Given the description of an element on the screen output the (x, y) to click on. 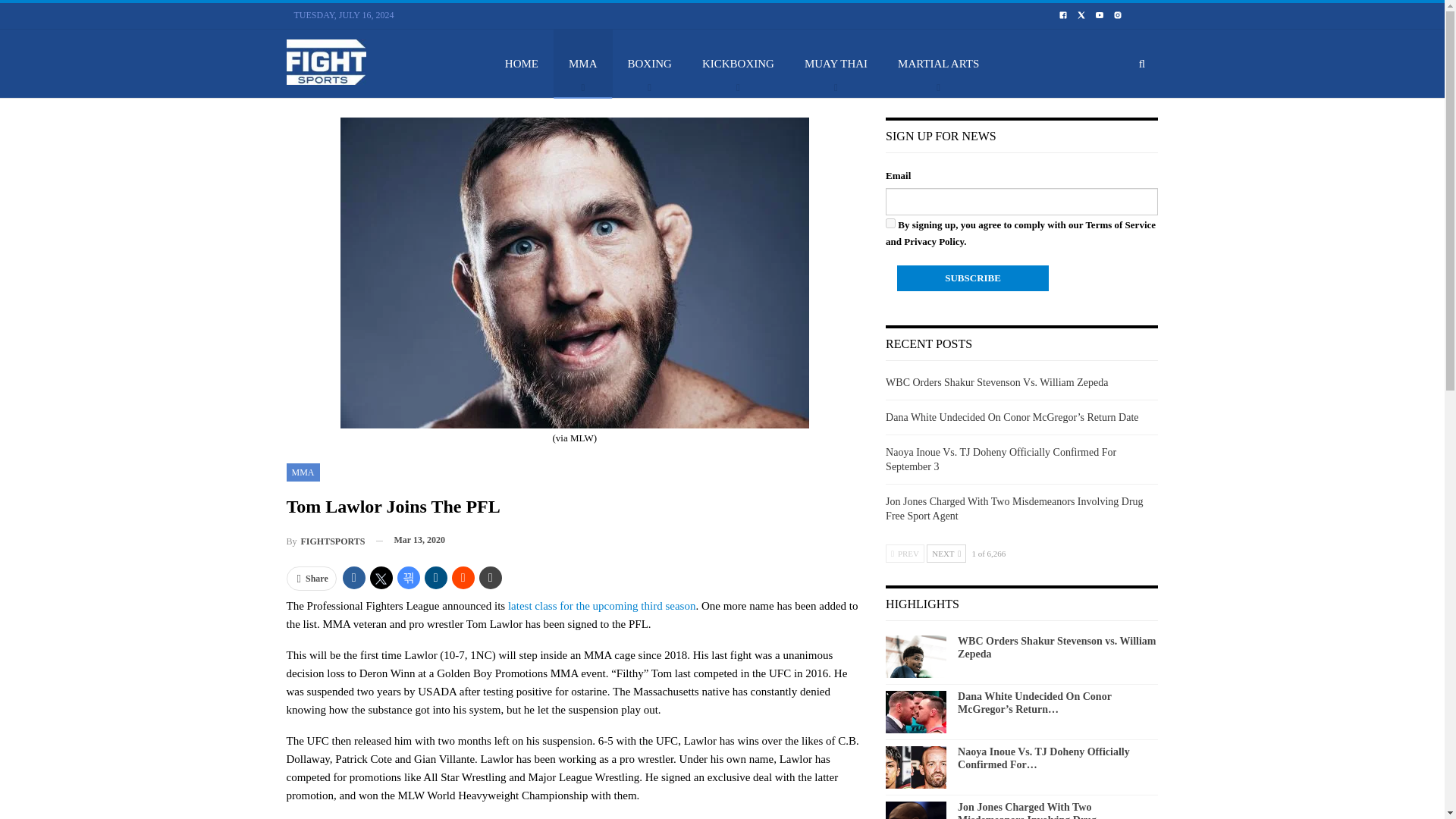
on (890, 223)
twitter (1081, 14)
instagram (1117, 14)
KICKBOXING (738, 63)
twitter (1080, 13)
Subscribe (972, 278)
youtube (1098, 14)
youtube (1099, 13)
facebook (1062, 14)
facebook (1062, 13)
instagram (1117, 13)
BOXING (649, 63)
HOME (521, 63)
